Given the description of an element on the screen output the (x, y) to click on. 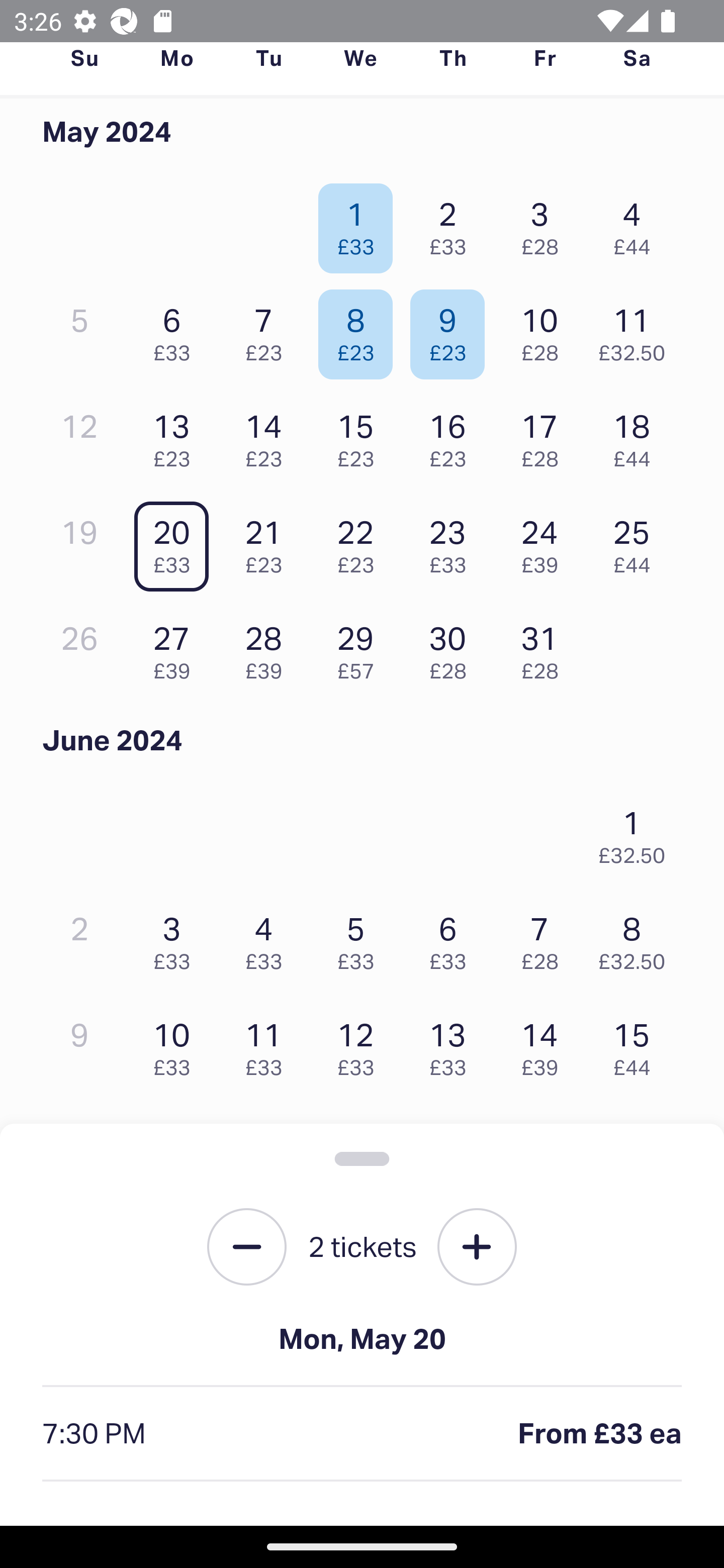
1 £33 (360, 223)
2 £33 (452, 223)
3 £28 (544, 223)
4 £44 (636, 223)
6 £33 (176, 329)
7 £23 (268, 329)
8 £23 (360, 329)
9 £23 (452, 329)
10 £28 (544, 329)
11 £32.50 (636, 329)
13 £23 (176, 435)
14 £23 (268, 435)
15 £23 (360, 435)
16 £23 (452, 435)
17 £28 (544, 435)
18 £44 (636, 435)
20 £33 (176, 541)
21 £23 (268, 541)
22 £23 (360, 541)
23 £33 (452, 541)
24 £39 (544, 541)
25 £44 (636, 541)
27 £39 (176, 647)
28 £39 (268, 647)
29 £57 (360, 647)
30 £28 (452, 647)
31 £28 (544, 647)
1 £32.50 (636, 831)
3 £33 (176, 938)
4 £33 (268, 938)
5 £33 (360, 938)
6 £33 (452, 938)
7 £28 (544, 938)
8 £32.50 (636, 938)
10 £33 (176, 1044)
11 £33 (268, 1044)
12 £33 (360, 1044)
13 £33 (452, 1044)
14 £39 (544, 1044)
15 £44 (636, 1044)
19 £33 (360, 1149)
7:30 PM From £33 ea (361, 1434)
